Given the description of an element on the screen output the (x, y) to click on. 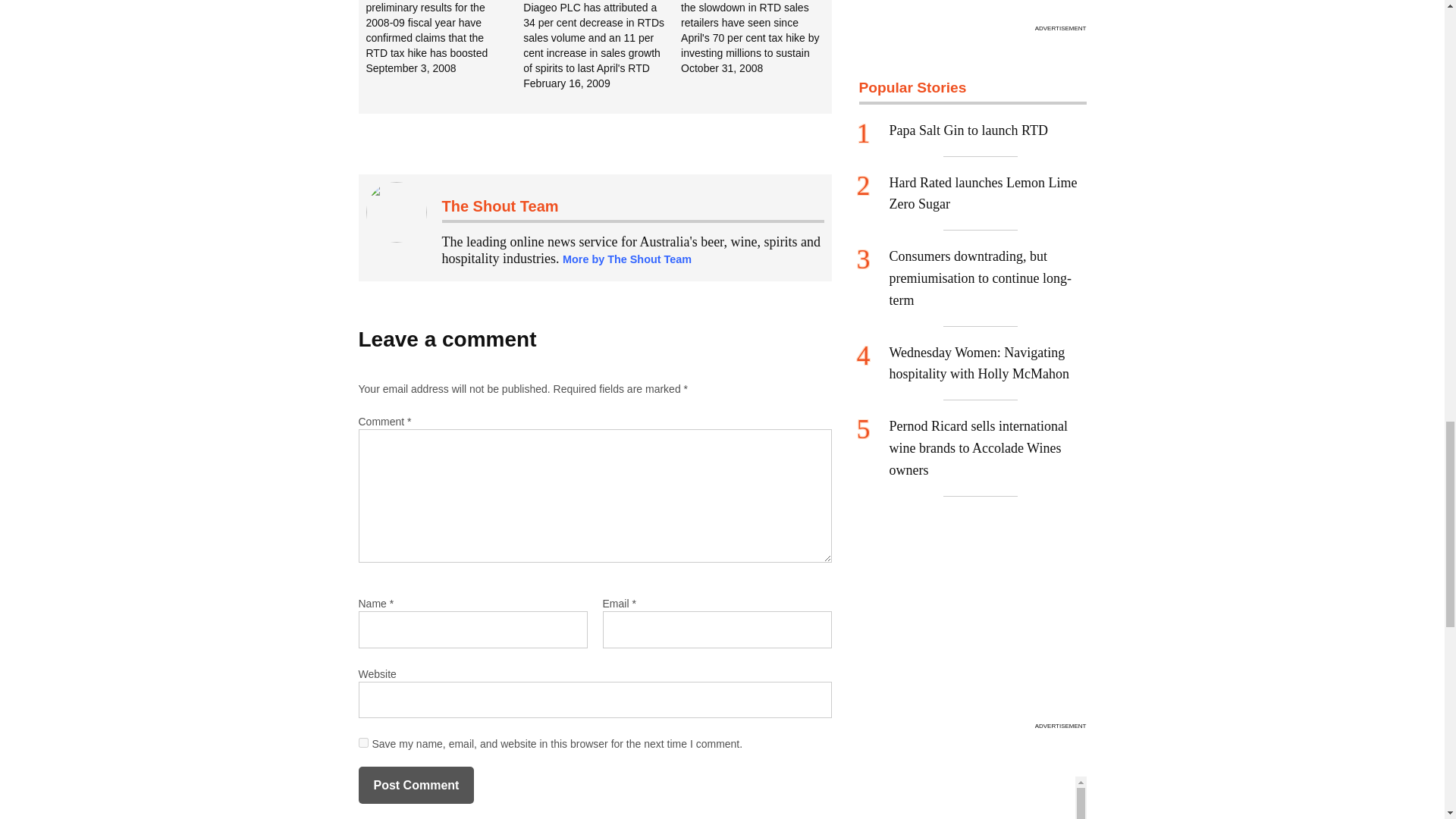
3rd party ad content (972, 9)
Post Comment (416, 785)
yes (363, 742)
Diageo To Promote RTDs for Summer (759, 38)
3rd party ad content (972, 621)
RTD Tax Hike Boosting Spirit Sales: Diageo (443, 38)
Diageo Financial Results Highlight Effects of RTD Tax Hike (601, 45)
